Given the description of an element on the screen output the (x, y) to click on. 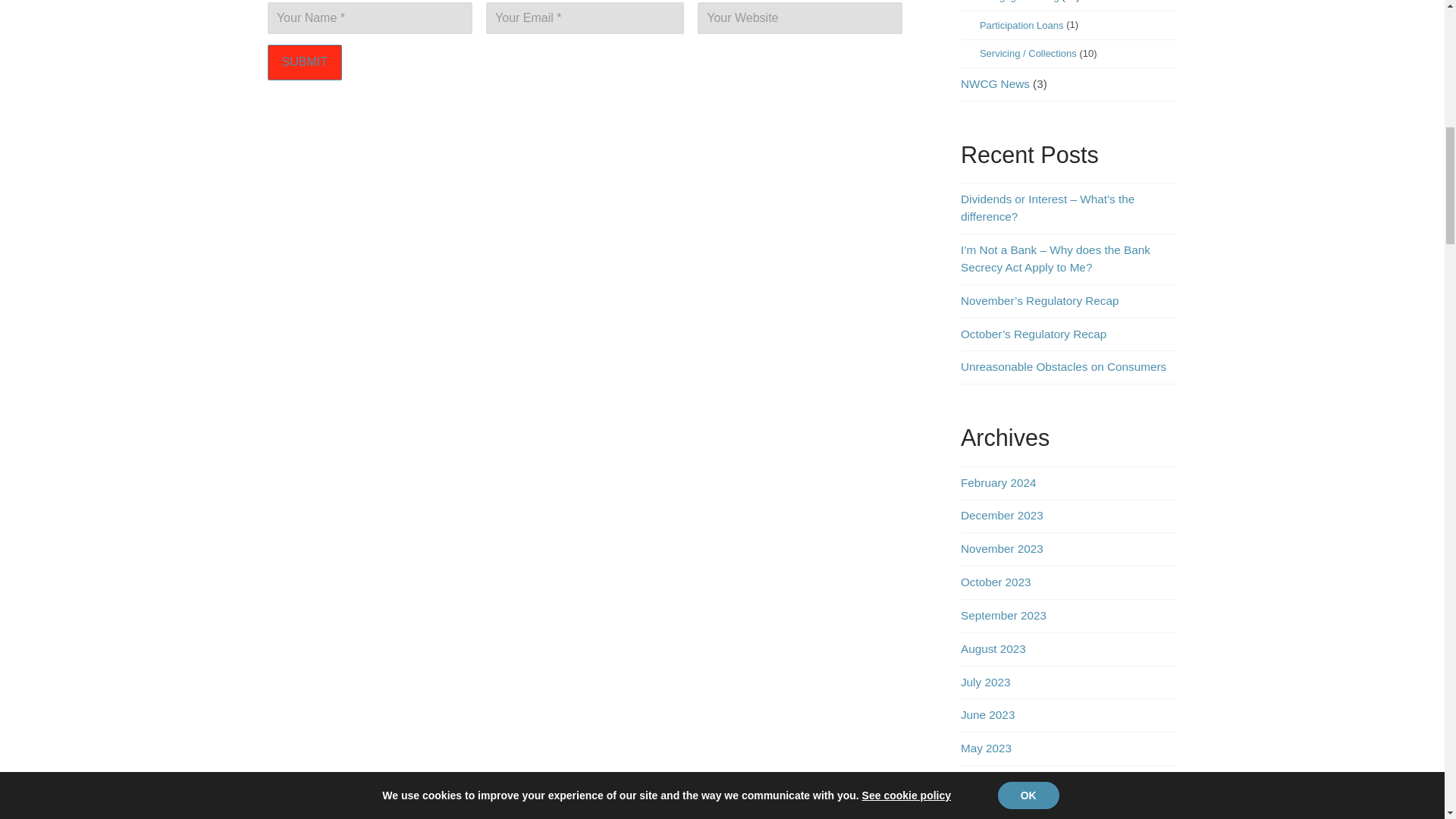
Submit (303, 63)
Submit (303, 63)
